Given the description of an element on the screen output the (x, y) to click on. 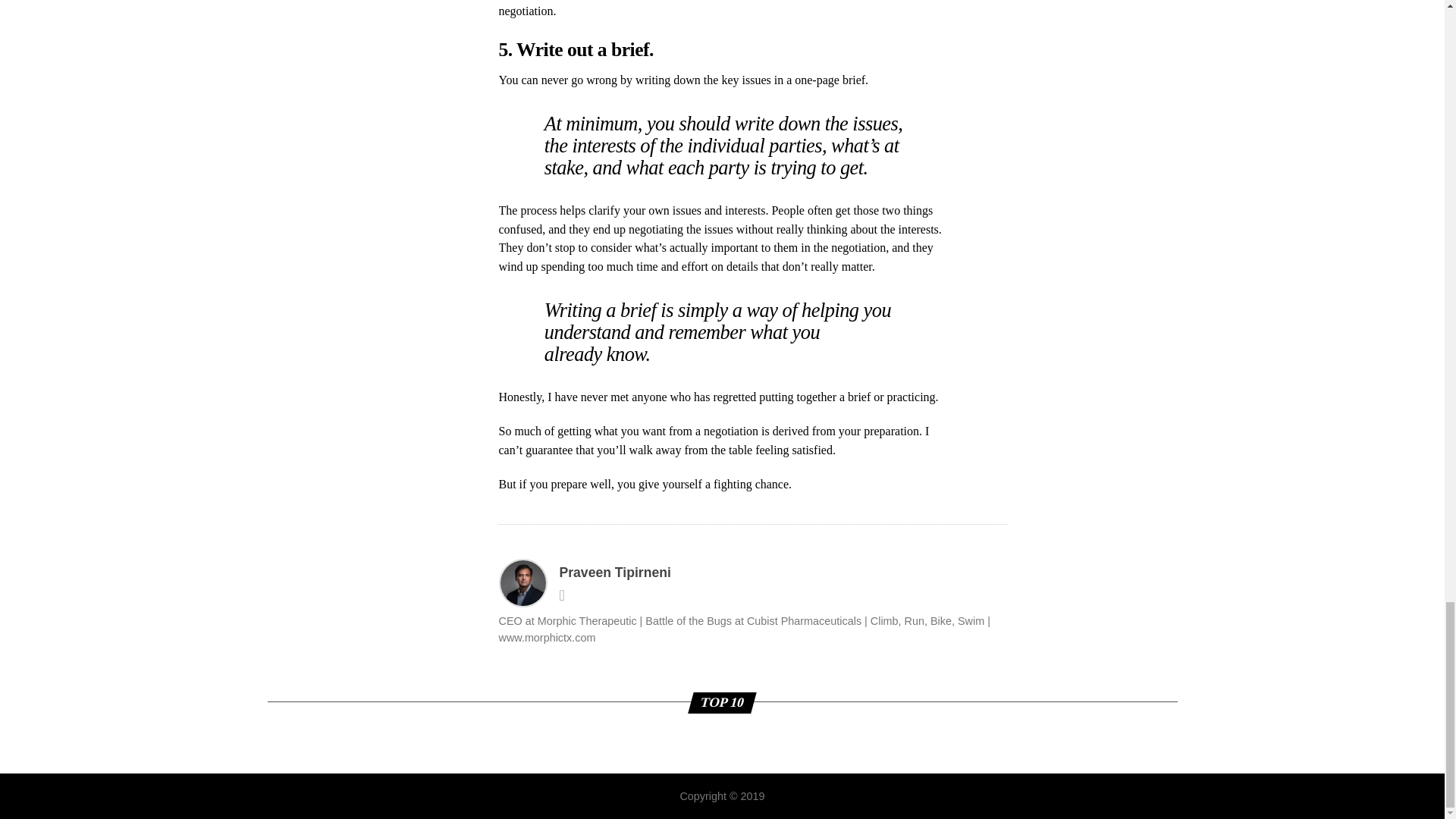
Praveen Tipirneni (615, 572)
Posts by Praveen Tipirneni (615, 572)
